Given the description of an element on the screen output the (x, y) to click on. 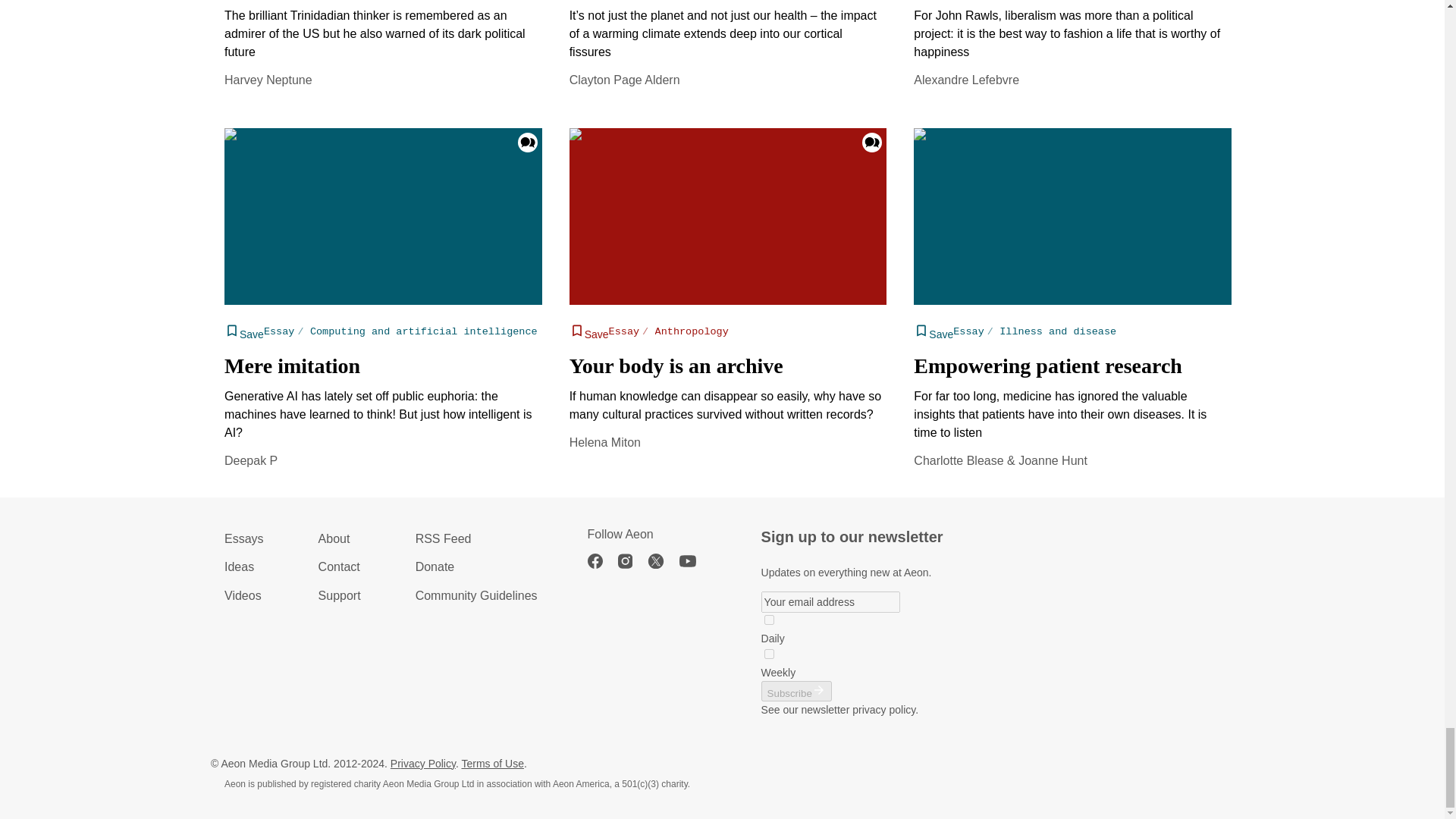
Instagram (632, 560)
on (769, 654)
YouTube (695, 560)
Facebook (602, 560)
on (769, 619)
